Given the description of an element on the screen output the (x, y) to click on. 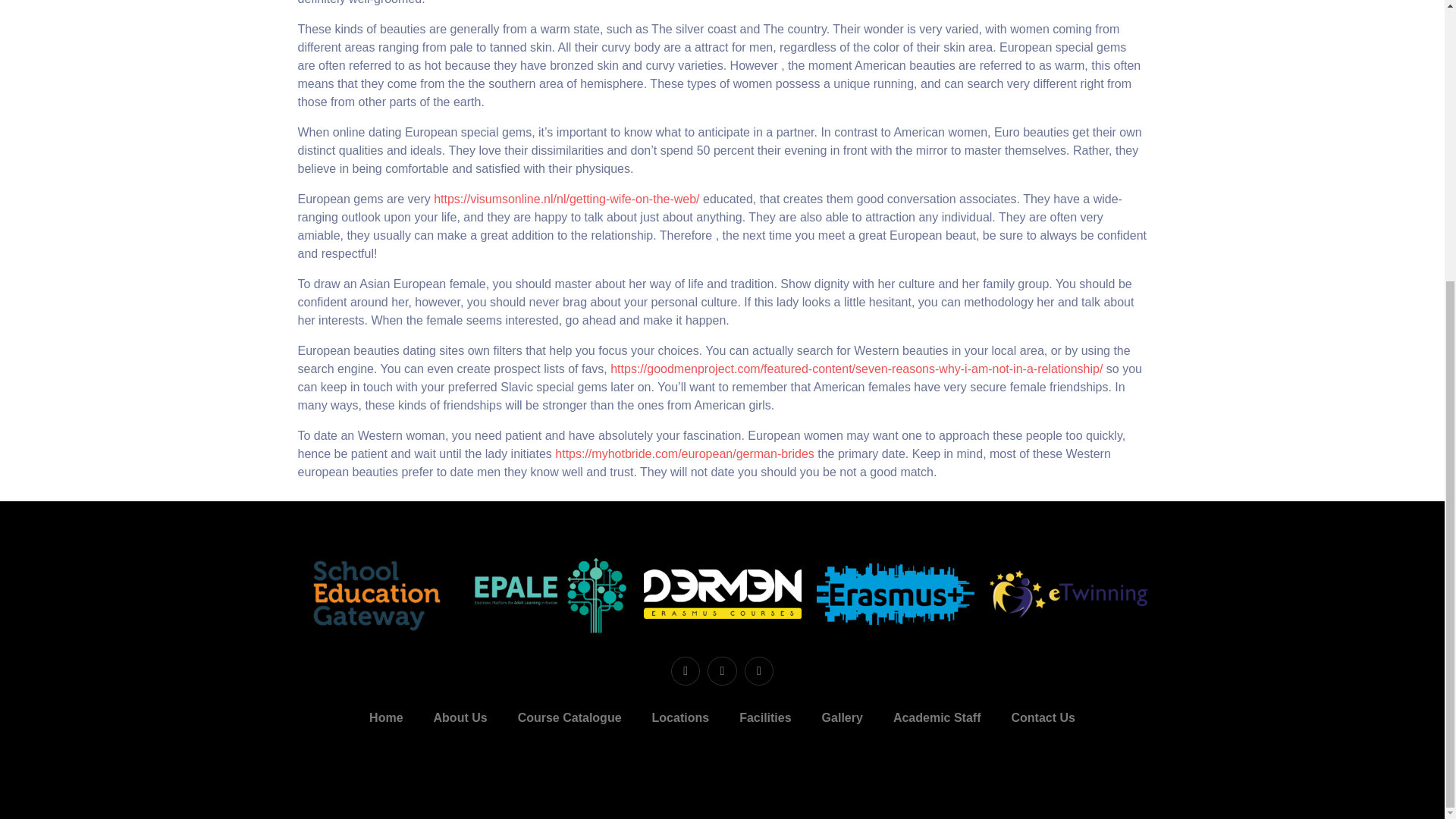
Course Catalogue (569, 718)
Gallery (841, 718)
About Us (460, 718)
Facilities (764, 718)
Academic Staff (936, 718)
Locations (681, 718)
Home (385, 718)
Contact Us (1042, 718)
